Given the description of an element on the screen output the (x, y) to click on. 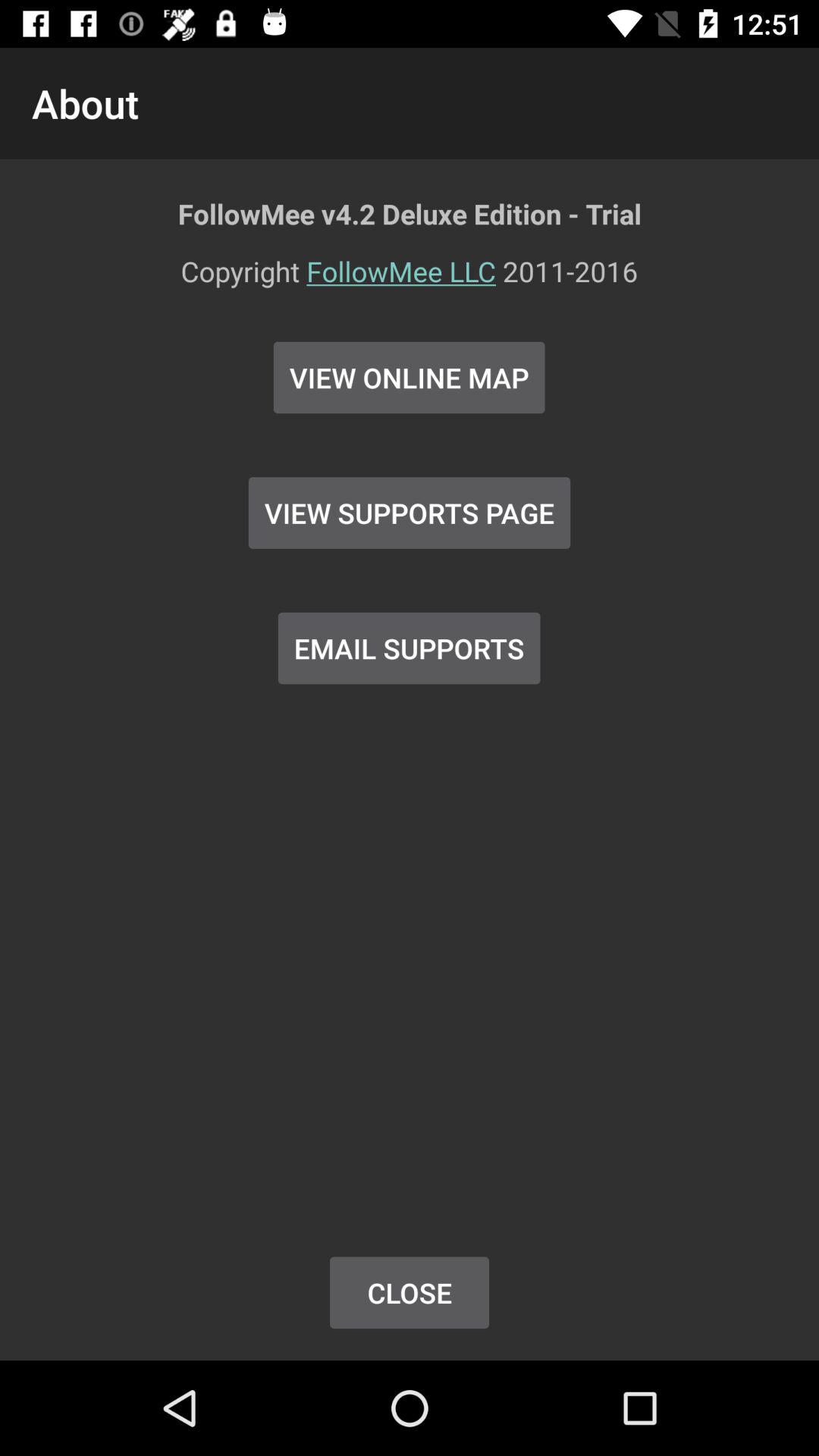
turn off icon below followmee v4 2 (409, 280)
